Given the description of an element on the screen output the (x, y) to click on. 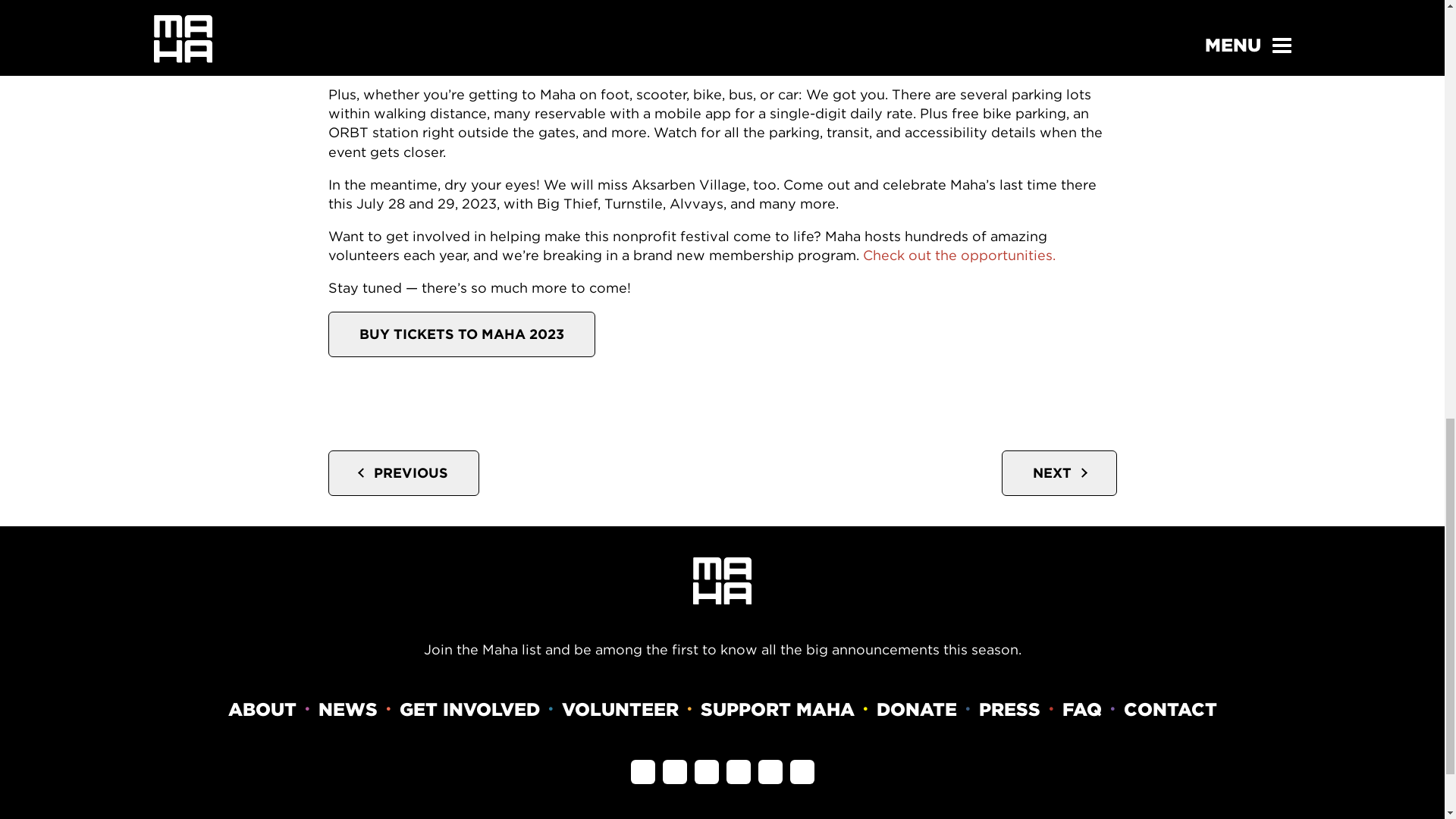
SUPPORT MAHA (777, 709)
Instagram (674, 771)
PREVIOUS (403, 473)
Facebook (642, 771)
Linkedin (738, 771)
Twitter (706, 771)
VOLUNTEER (619, 709)
BUY TICKETS TO MAHA 2023 (460, 334)
FAQ (1080, 709)
ABOUT (261, 709)
